Given the description of an element on the screen output the (x, y) to click on. 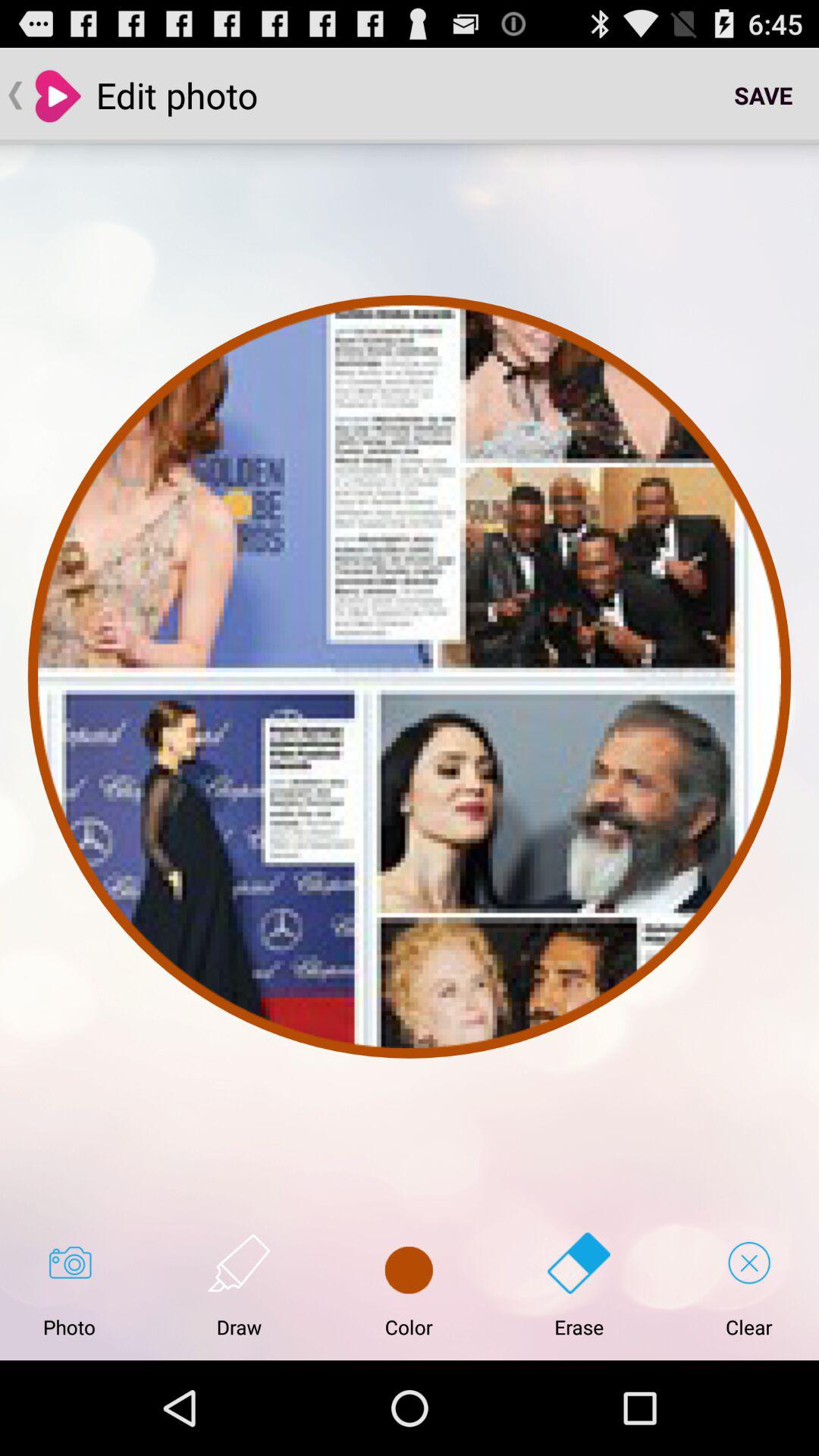
select the erase (579, 1285)
